Given the description of an element on the screen output the (x, y) to click on. 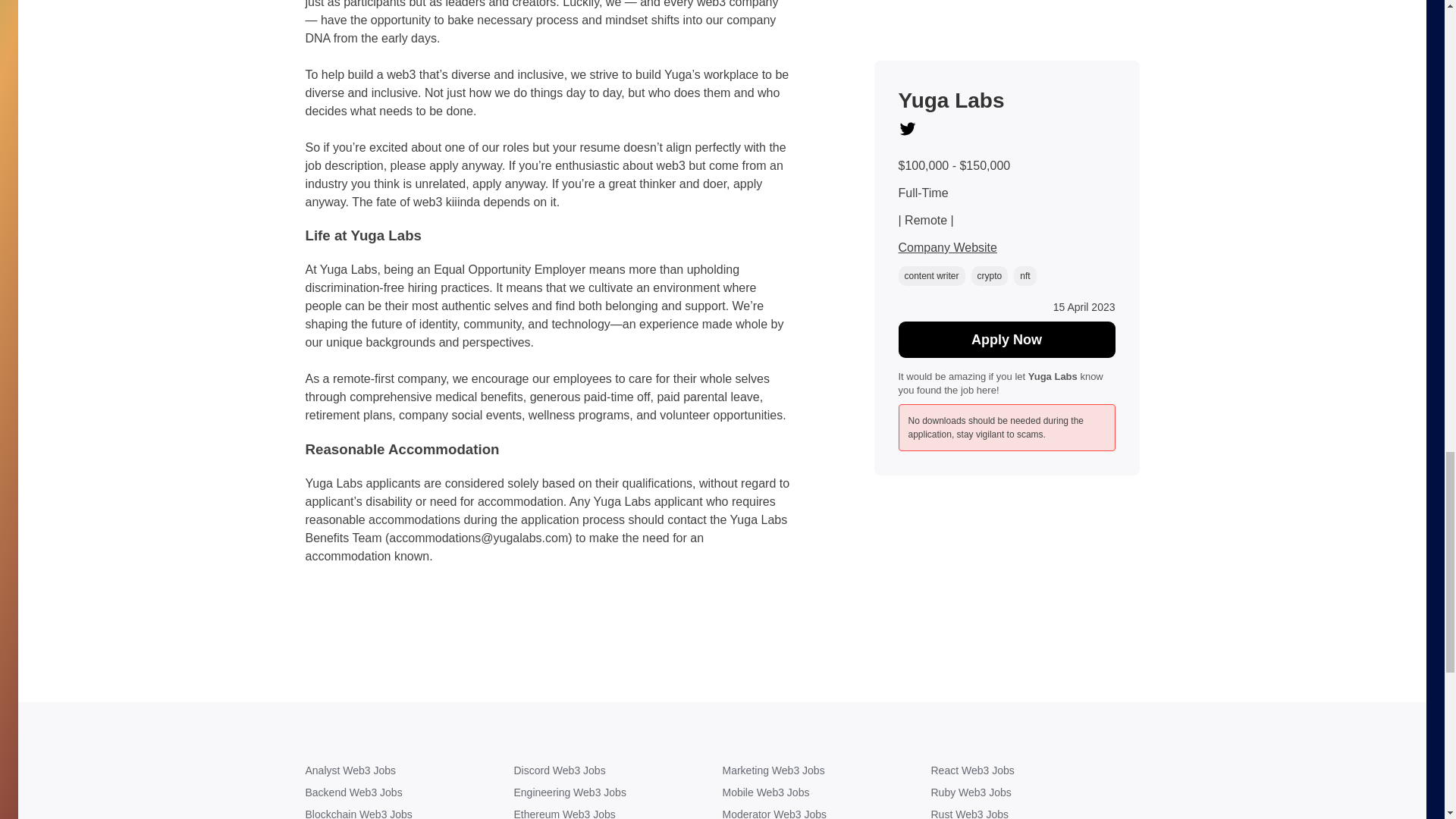
Engineering Web3 Jobs (617, 792)
Discord Web3 Jobs (617, 770)
Ethereum Web3 Jobs (617, 812)
Blockchain Web3 Jobs (408, 812)
Backend Web3 Jobs (408, 792)
Moderator Web3 Jobs (826, 812)
Mobile Web3 Jobs (826, 792)
Marketing Web3 Jobs (826, 770)
Analyst Web3 Jobs (408, 770)
